Given the description of an element on the screen output the (x, y) to click on. 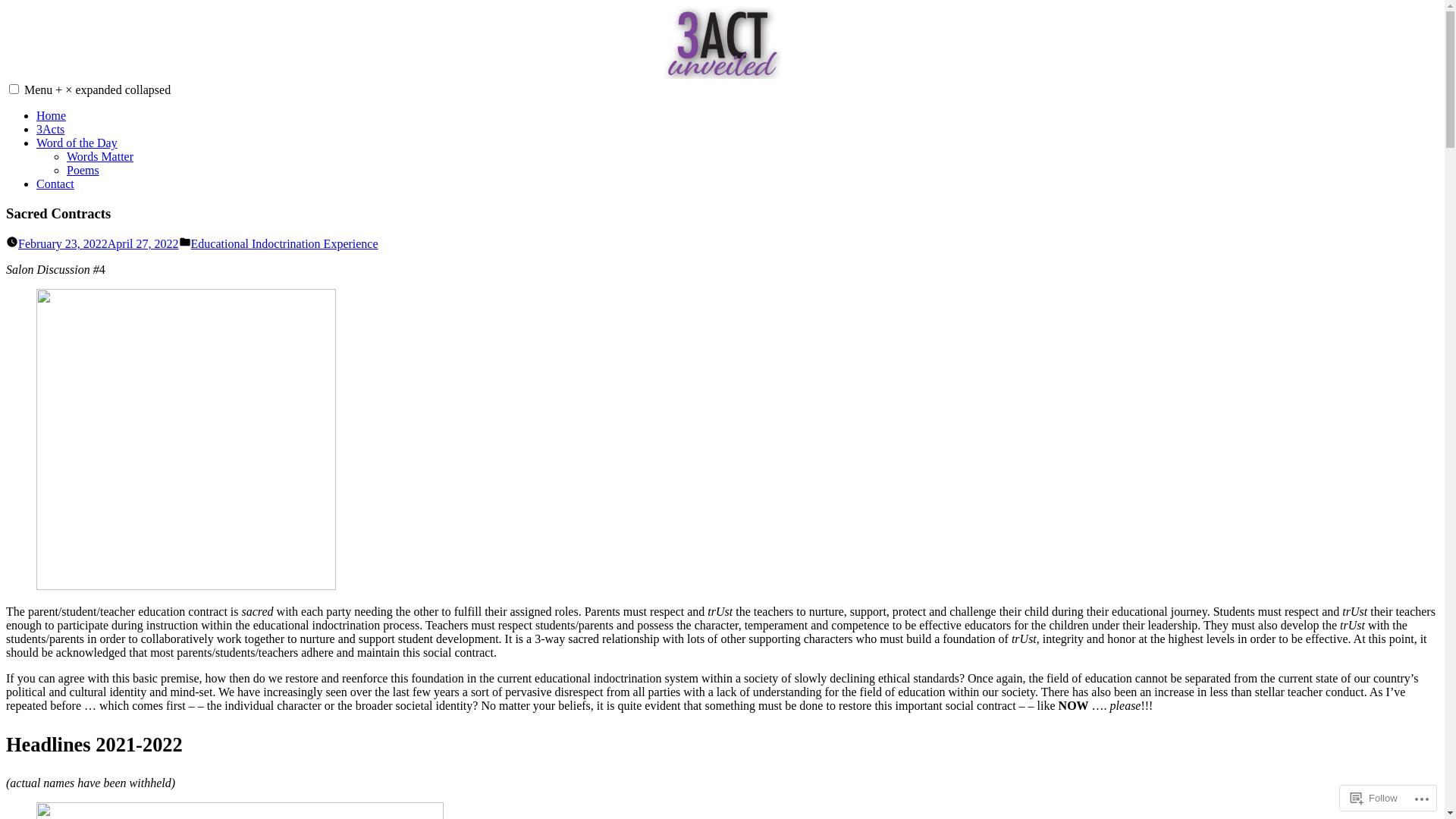
Contact Element type: text (55, 183)
3ACTunveiled Element type: text (42, 100)
Follow Element type: text (1373, 797)
Home Element type: text (50, 115)
Educational Indoctrination Experience Element type: text (284, 243)
February 23, 2022April 27, 2022 Element type: text (98, 243)
Word of the Day Element type: text (76, 142)
Words Matter Element type: text (99, 156)
3Acts Element type: text (50, 128)
Poems Element type: text (82, 169)
